Given the description of an element on the screen output the (x, y) to click on. 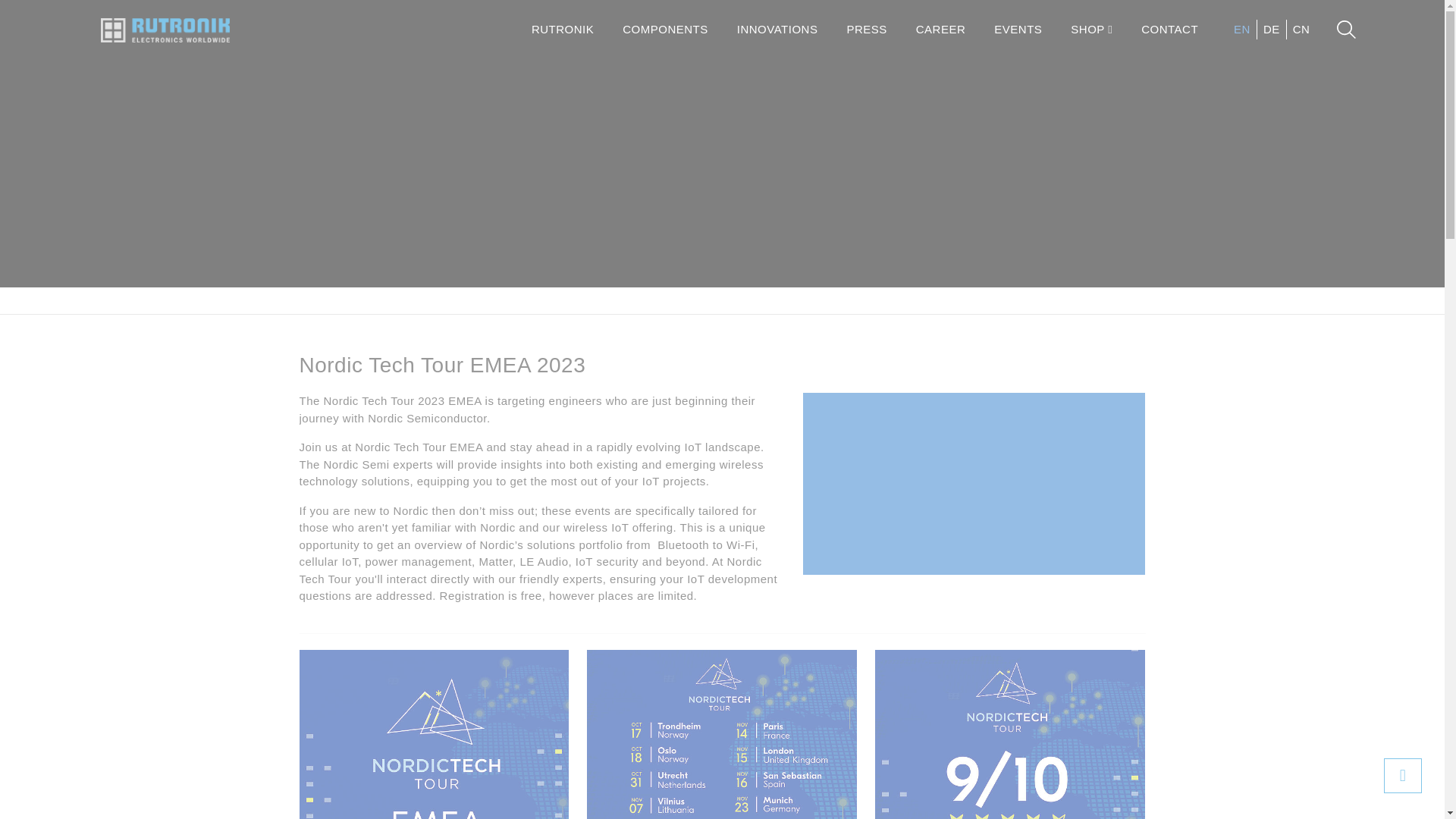
RUTRONIK (562, 29)
Banner EMEA 2023 (433, 734)
logo (164, 30)
search page (1345, 29)
EMEA Appointments (721, 734)
More about Nordic Semiconductor (974, 543)
COMPONENTS (664, 29)
Nordic Semiconductor (599, 300)
Components (380, 300)
Recommendation EMEA (1009, 734)
